Given the description of an element on the screen output the (x, y) to click on. 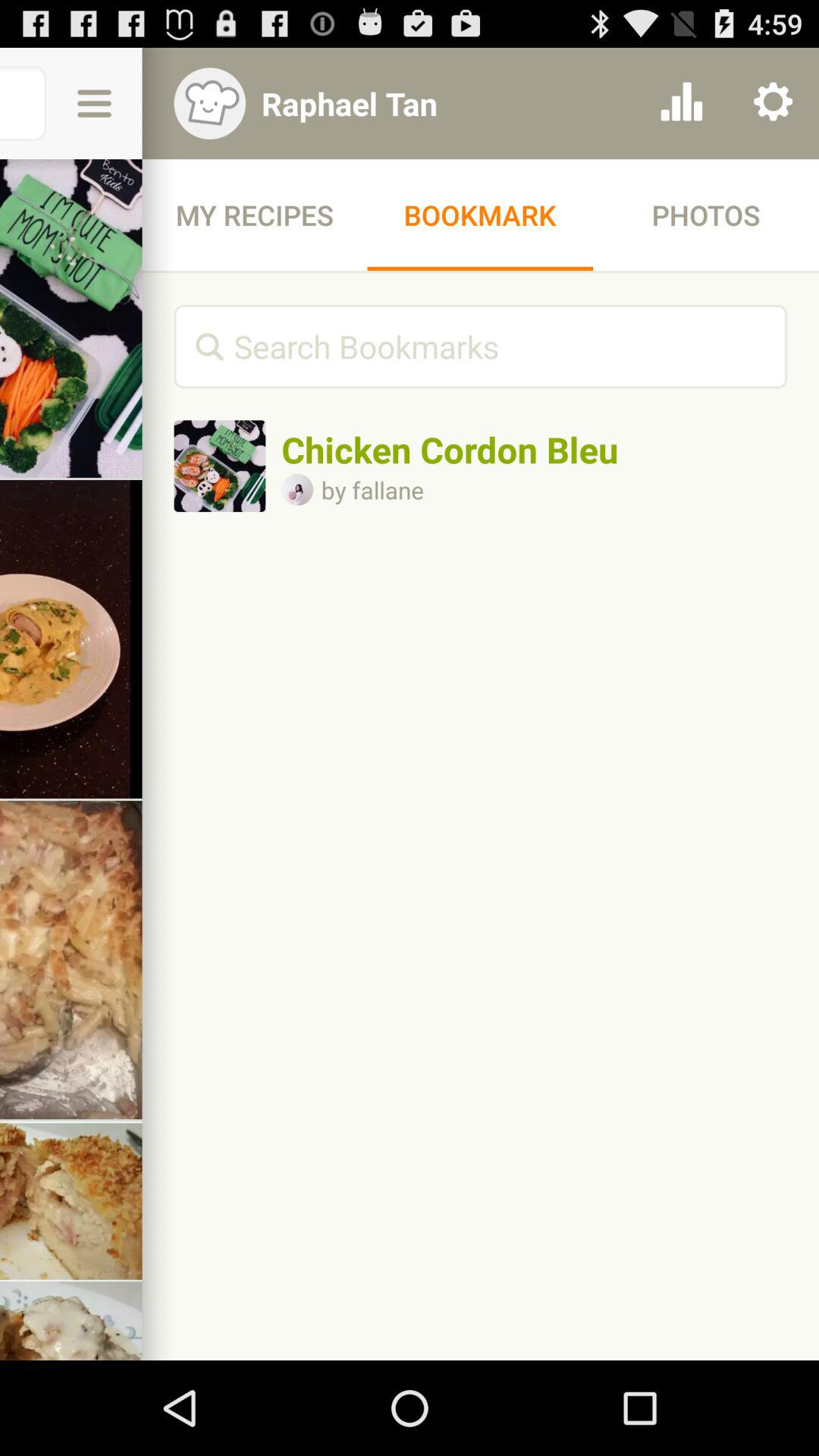
scroll until raphael tan icon (440, 103)
